Given the description of an element on the screen output the (x, y) to click on. 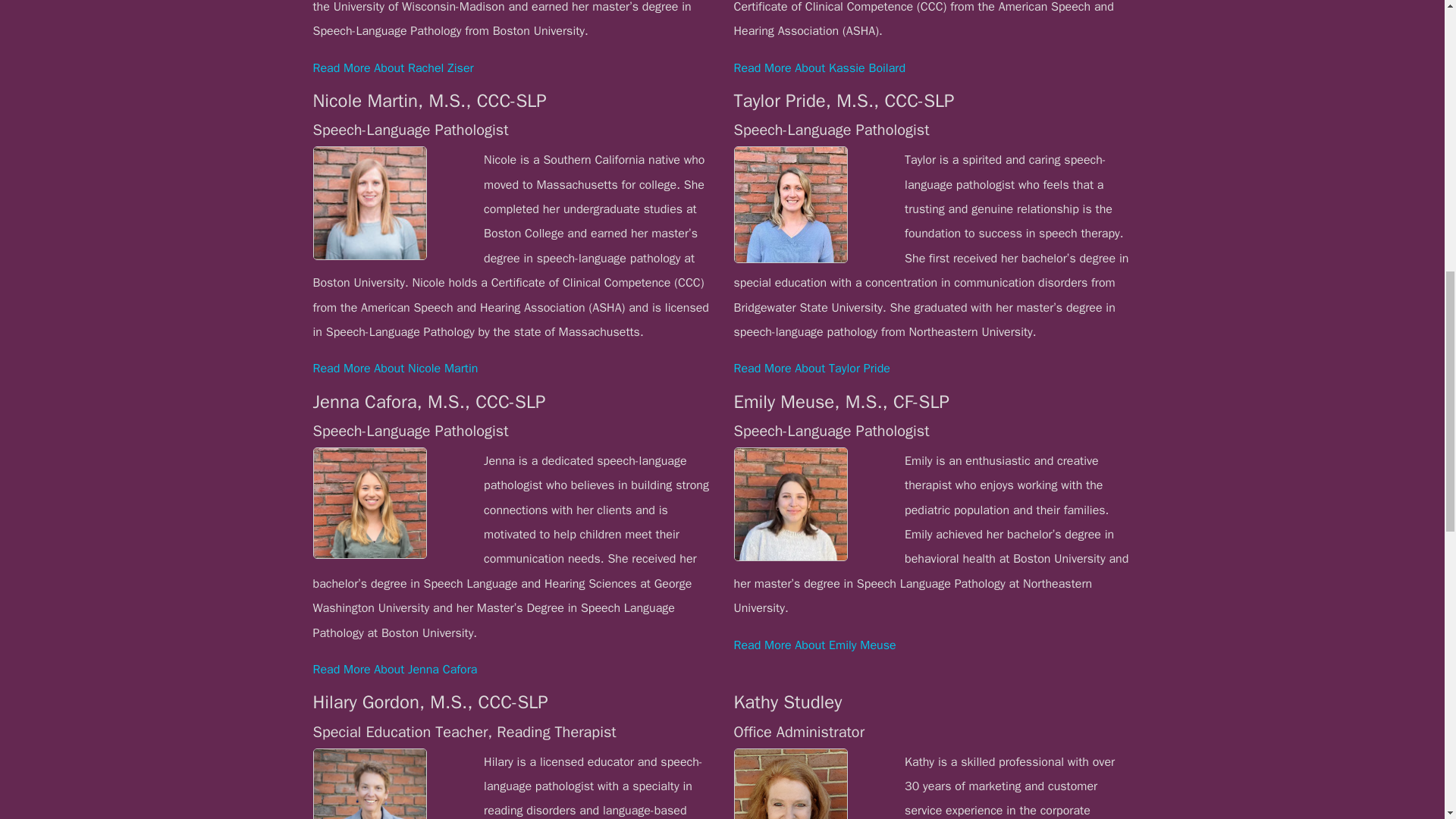
Read More About Taylor Pride (811, 368)
Read More About Rachel Ziser (393, 68)
Read More About Jenna Cafora (395, 669)
Read More About Kassie Boilard (819, 68)
Read More About Nicole Martin (395, 368)
Read More About Emily Meuse (814, 645)
